Given the description of an element on the screen output the (x, y) to click on. 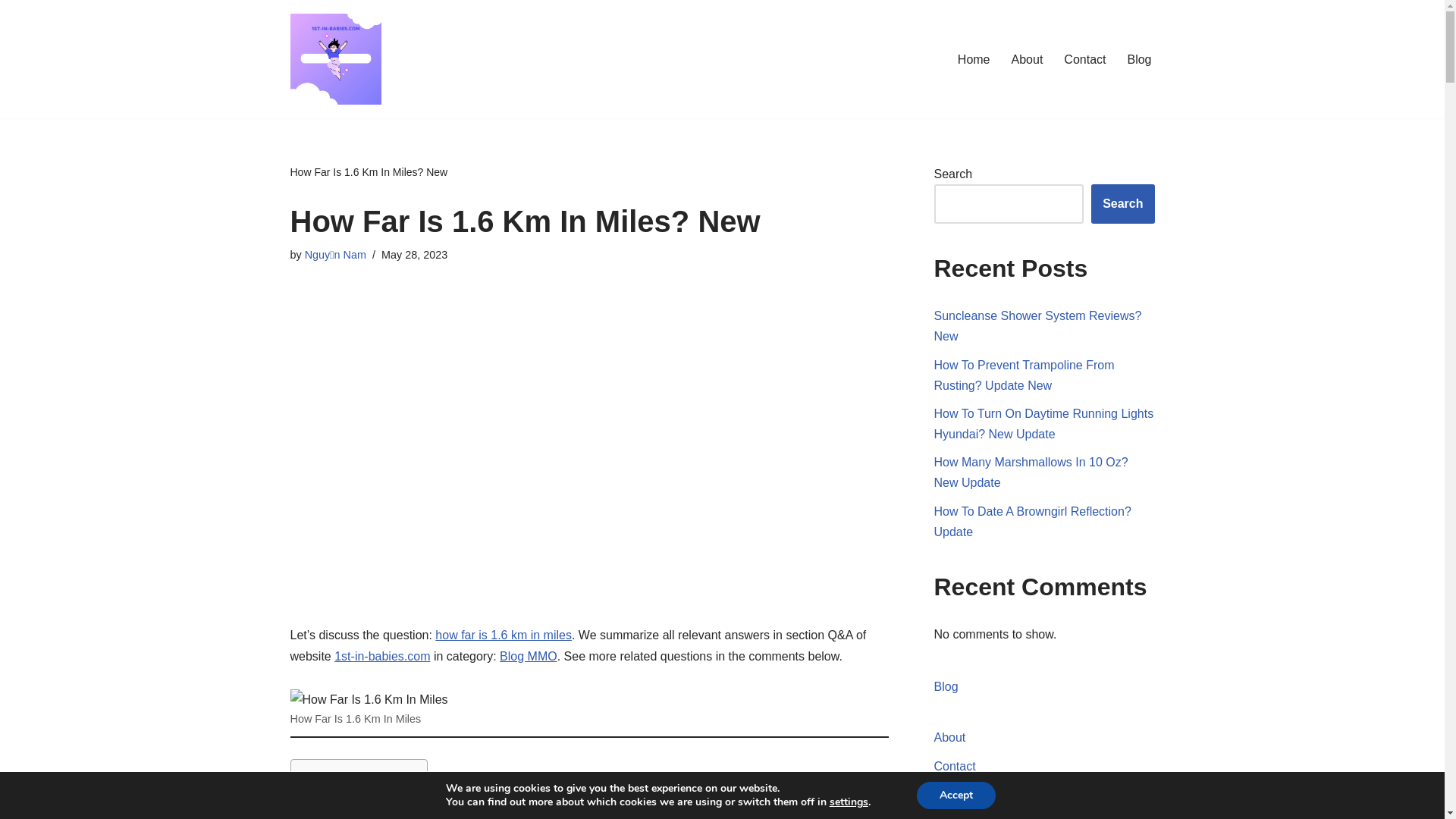
Contact Element type: text (954, 765)
About Element type: text (1027, 59)
How To Date A Browngirl Reflection? Update Element type: text (1032, 521)
settings Element type: text (848, 802)
How Many Marshmallows In 10 Oz? New Update Element type: text (1031, 472)
Accept Element type: text (955, 795)
How To Prevent Trampoline From Rusting? Update New Element type: text (1024, 375)
how far is 1.6 km in miles Element type: text (503, 634)
Contact Element type: text (1084, 59)
Home Element type: text (973, 59)
1st-in-babies.com Element type: text (381, 655)
Privacy Policy Element type: text (972, 793)
Advertisement Element type: hover (588, 460)
Skip to content Element type: text (11, 31)
About Element type: text (950, 737)
Search Element type: text (1122, 203)
How To Turn On Daytime Running Lights Hyundai? New Update Element type: text (1044, 423)
Blog Element type: text (1138, 59)
Suncleanse Shower System Reviews? New Element type: text (1038, 325)
Blog MMO Element type: text (528, 655)
Blog Element type: text (946, 686)
